Given the description of an element on the screen output the (x, y) to click on. 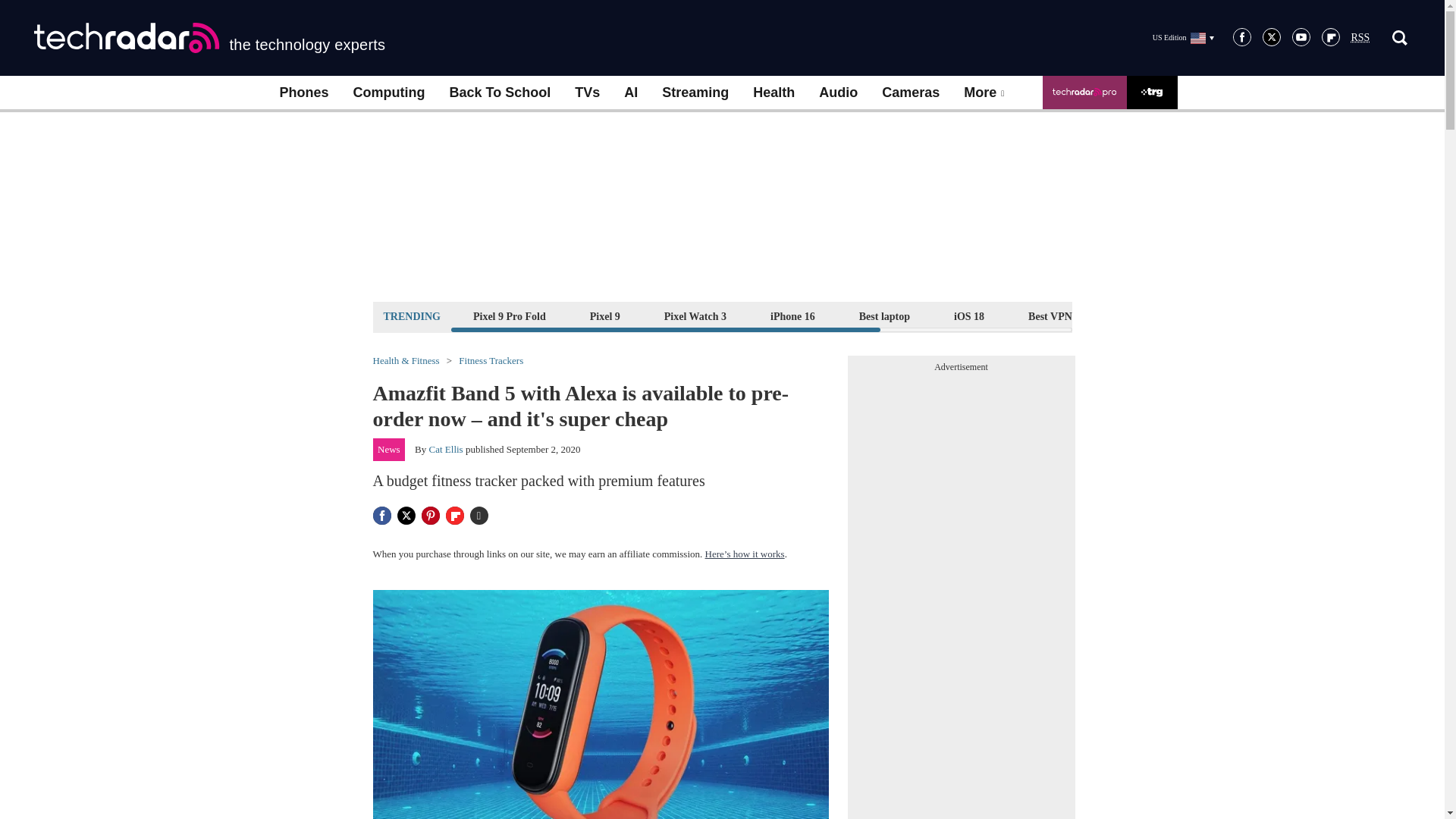
Phones (303, 92)
TVs (586, 92)
Cameras (910, 92)
Streaming (695, 92)
Health (773, 92)
Back To School (499, 92)
Computing (389, 92)
the technology experts (209, 38)
Really Simple Syndication (1360, 37)
Audio (837, 92)
